Given the description of an element on the screen output the (x, y) to click on. 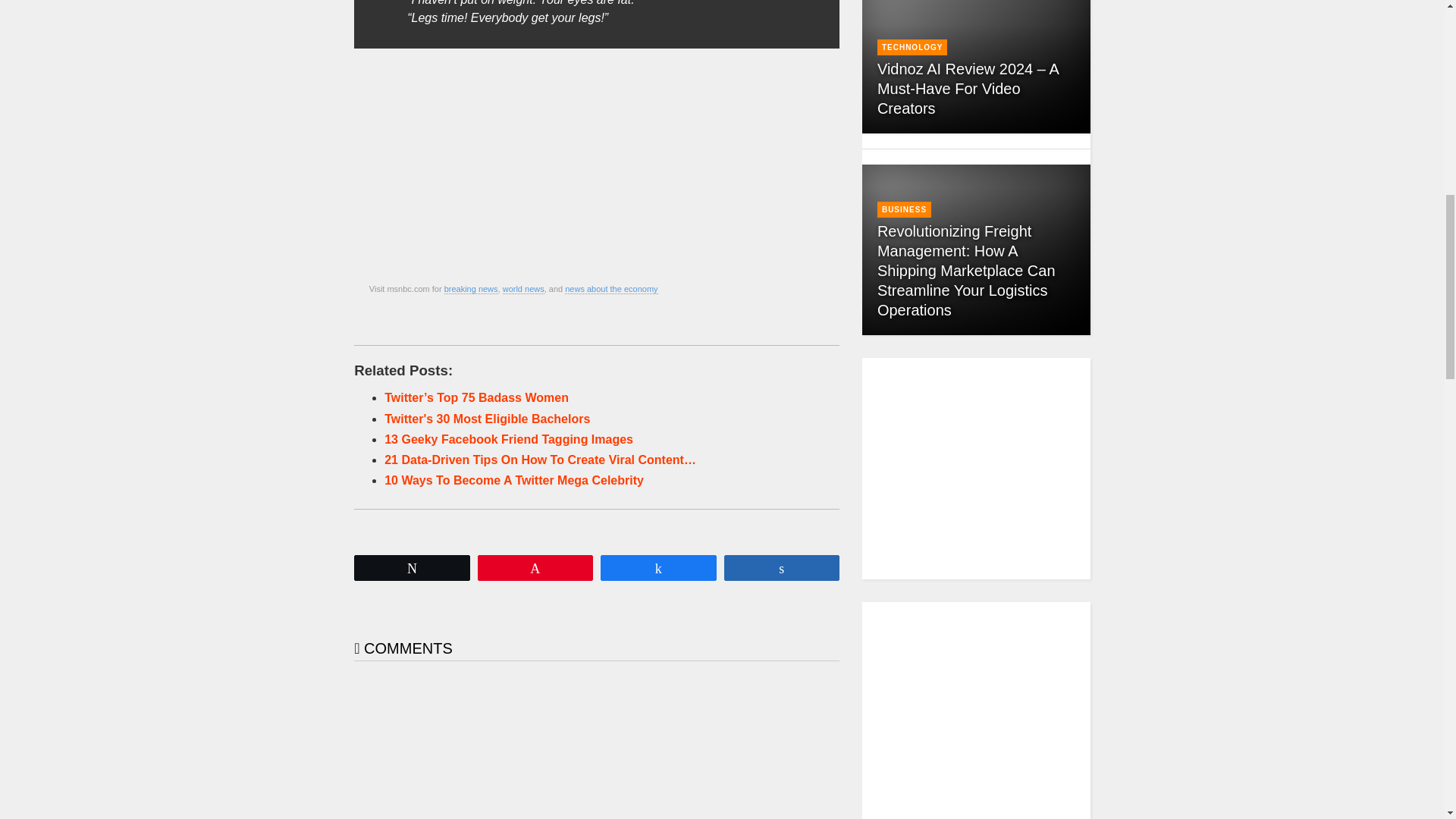
world news (523, 289)
Twitter's 30 Most Eligible Bachelors (486, 418)
13 Geeky Facebook Friend Tagging Images (508, 439)
news about the economy (611, 289)
breaking news (470, 289)
10 Ways To Become A Twitter Mega Celebrity (513, 480)
